Given the description of an element on the screen output the (x, y) to click on. 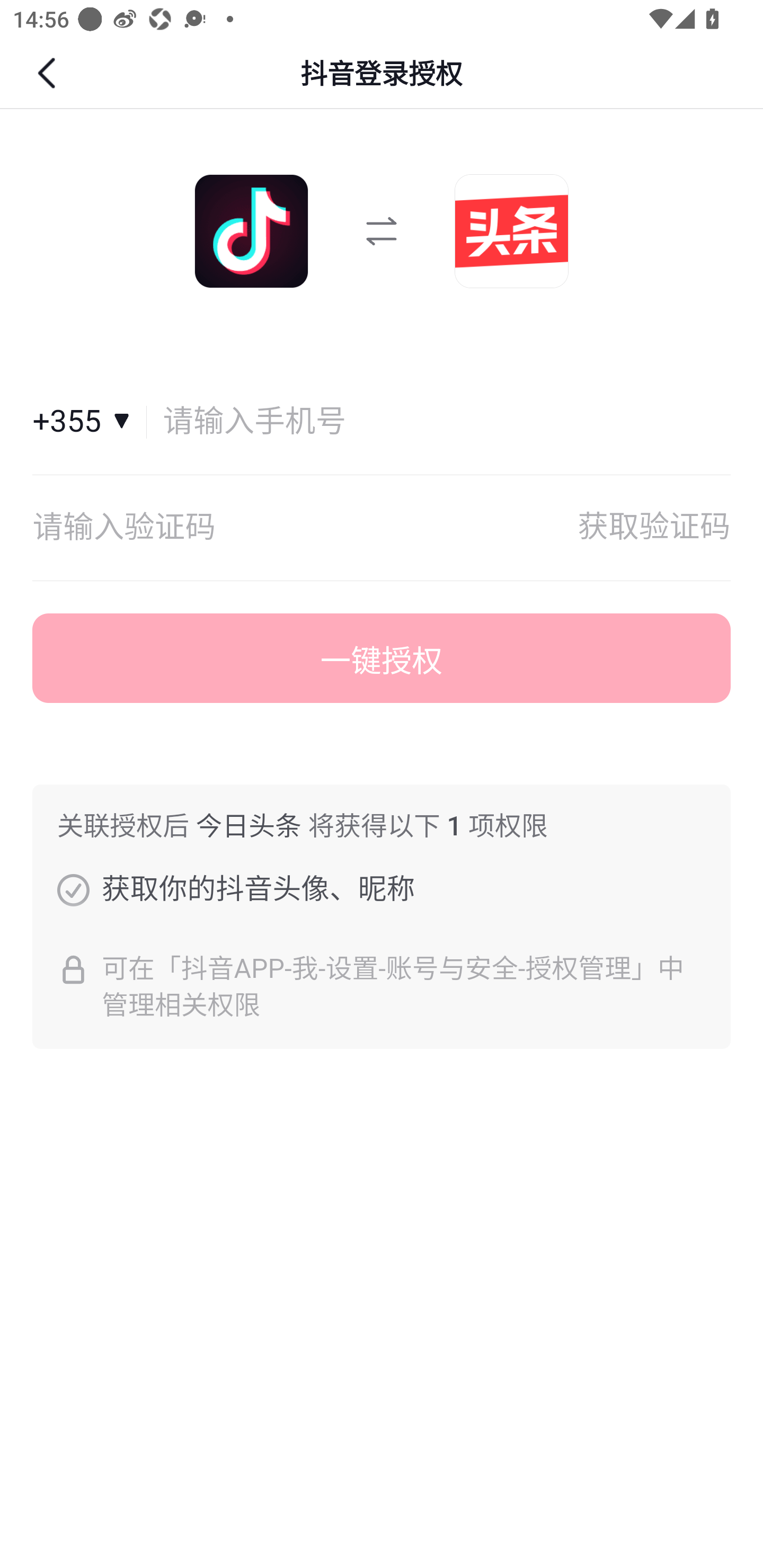
返回 (49, 72)
国家和地区+355 (90, 421)
获取验证码 (653, 527)
一键授权 (381, 658)
获取你的抖音头像、昵称 (72, 889)
